Given the description of an element on the screen output the (x, y) to click on. 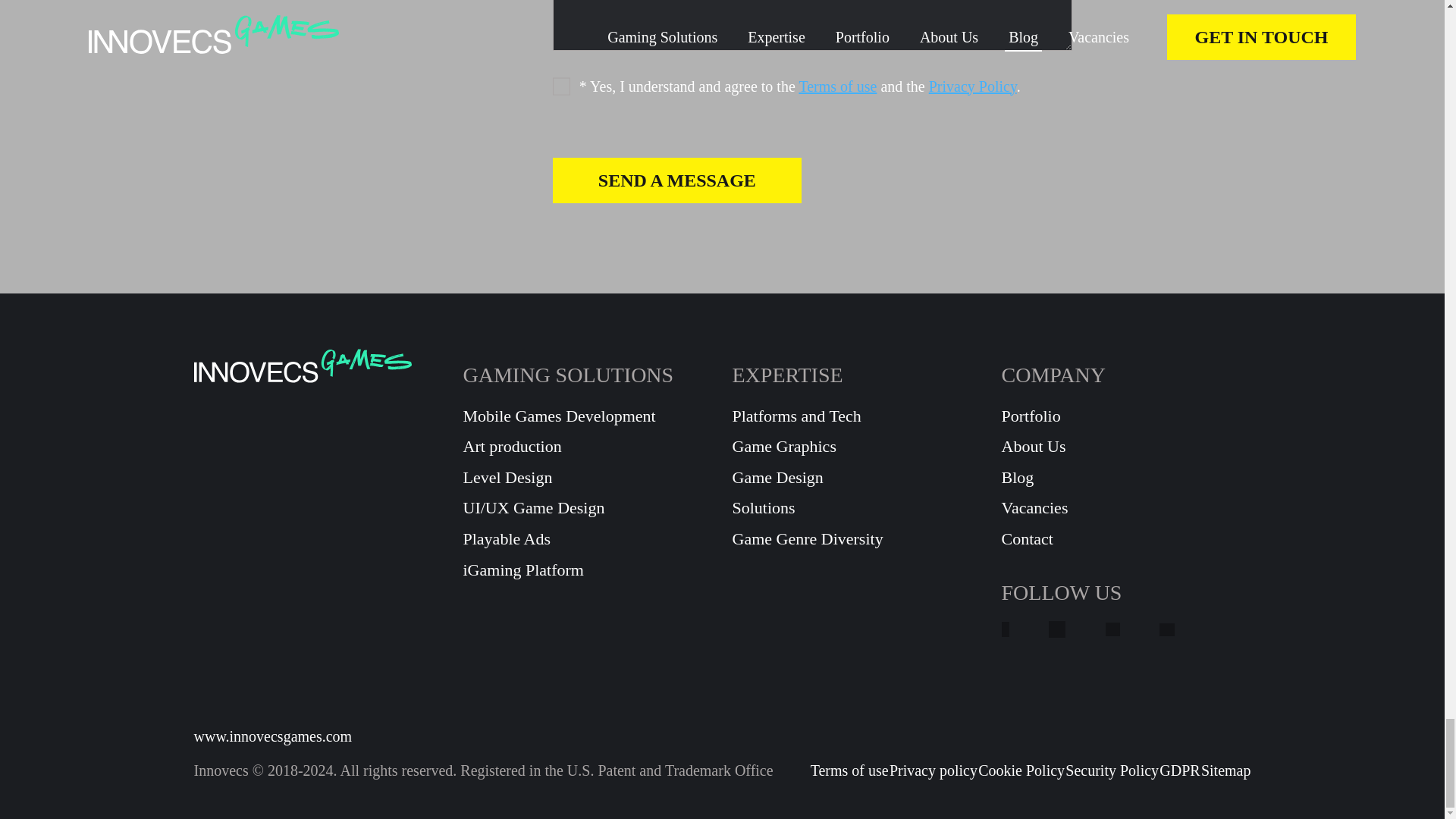
Playable Ads (587, 539)
Terms of use (836, 86)
Level Design (587, 477)
SEND A MESSAGE (677, 180)
Platforms and Tech (856, 416)
iGaming Platform (587, 570)
Game Design (856, 477)
Privacy Policy (972, 86)
Mobile Games Development (587, 416)
Art production (587, 446)
Game Graphics (856, 446)
